Given the description of an element on the screen output the (x, y) to click on. 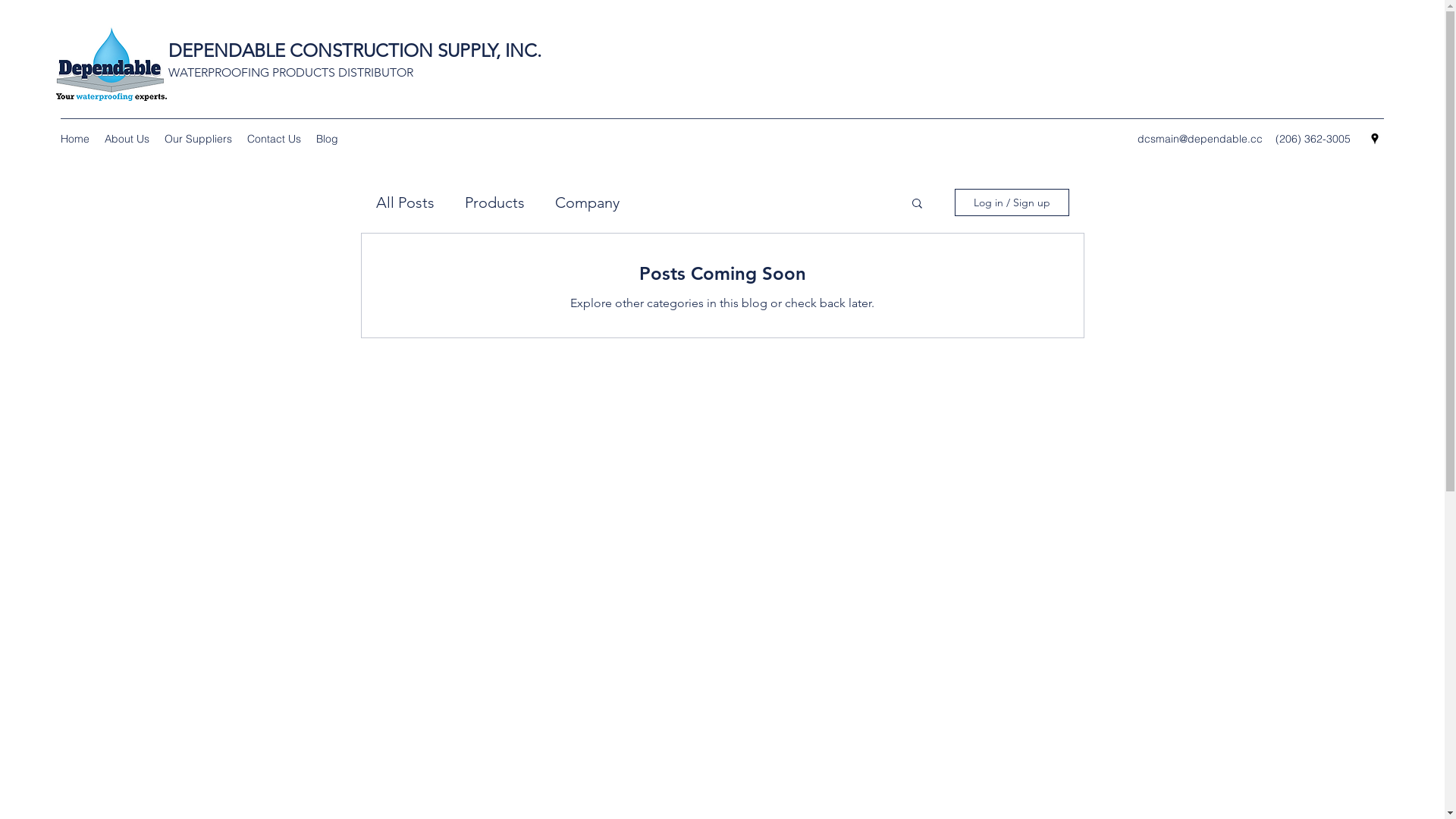
Products Element type: text (494, 202)
All Posts Element type: text (405, 202)
Contact Us Element type: text (273, 138)
Blog Element type: text (326, 138)
dcsmain@dependable.cc Element type: text (1199, 138)
Our Suppliers Element type: text (197, 138)
Log in / Sign up Element type: text (1010, 202)
About Us Element type: text (126, 138)
Company Element type: text (587, 202)
Home Element type: text (75, 138)
